Given the description of an element on the screen output the (x, y) to click on. 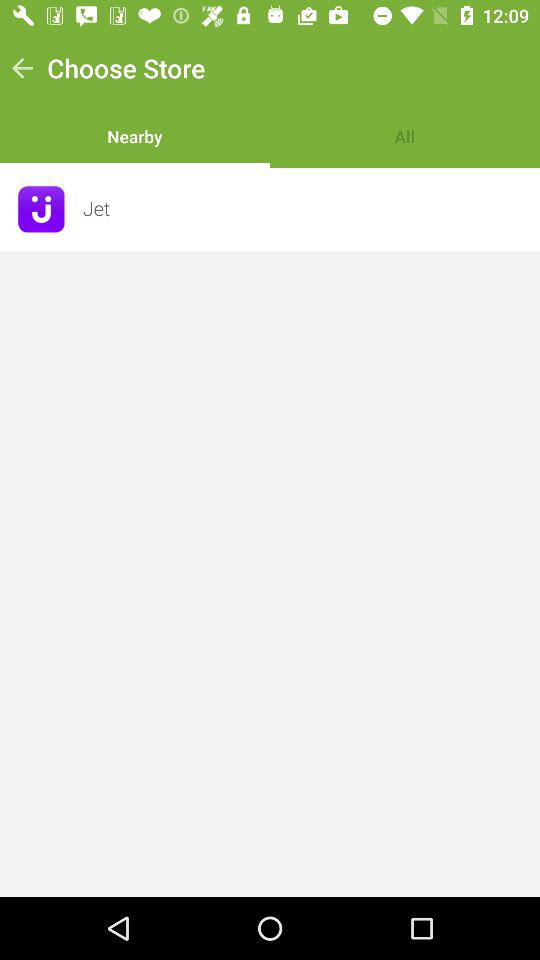
flip to the choose store (126, 67)
